Given the description of an element on the screen output the (x, y) to click on. 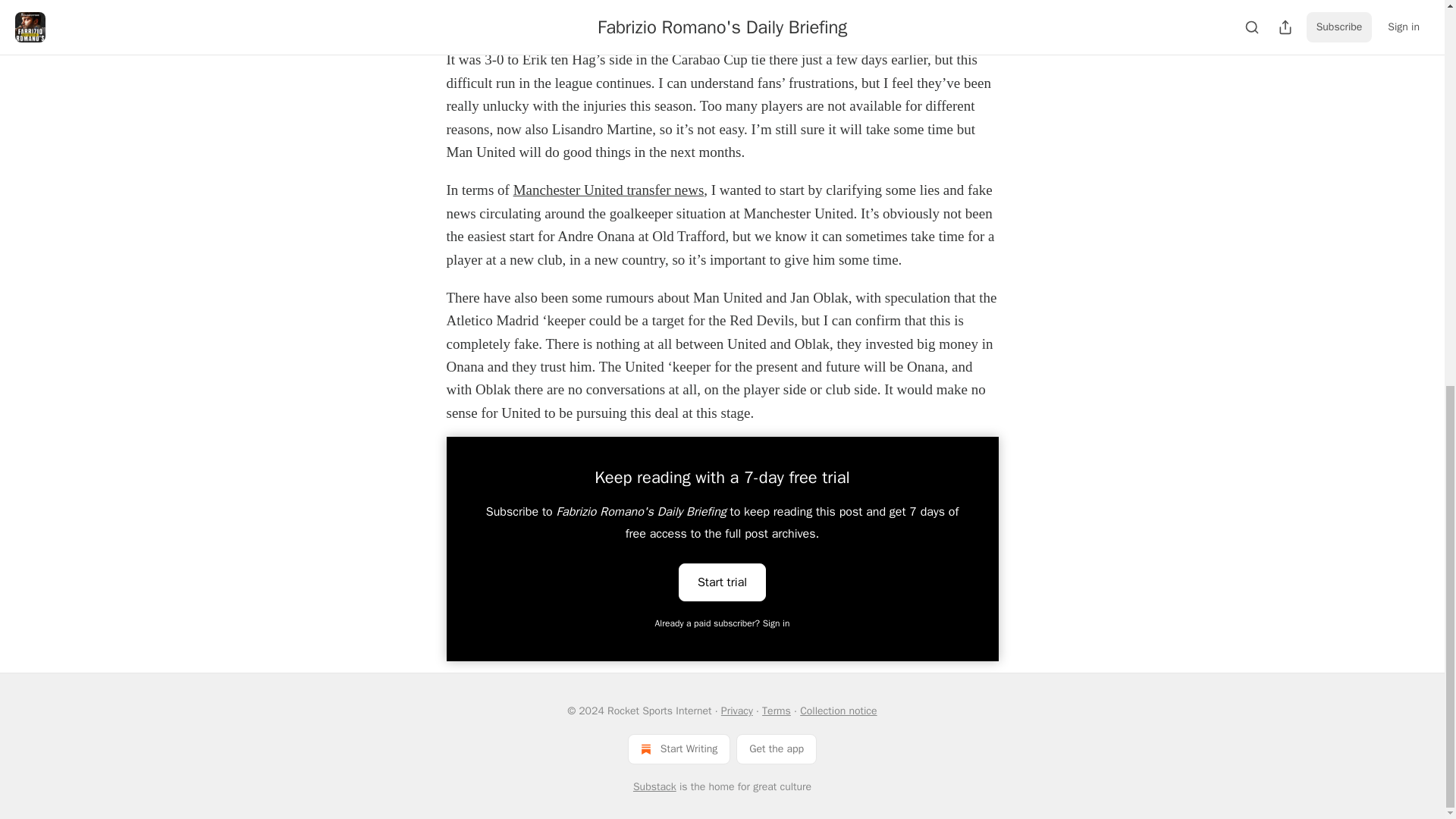
Start Writing (678, 748)
Collection notice (837, 710)
Substack (655, 786)
Manchester United transfer news (608, 189)
Terms (775, 710)
Start trial (721, 581)
Already a paid subscriber? Sign in (722, 623)
Privacy (736, 710)
Start trial (721, 582)
Get the app (776, 748)
